Given the description of an element on the screen output the (x, y) to click on. 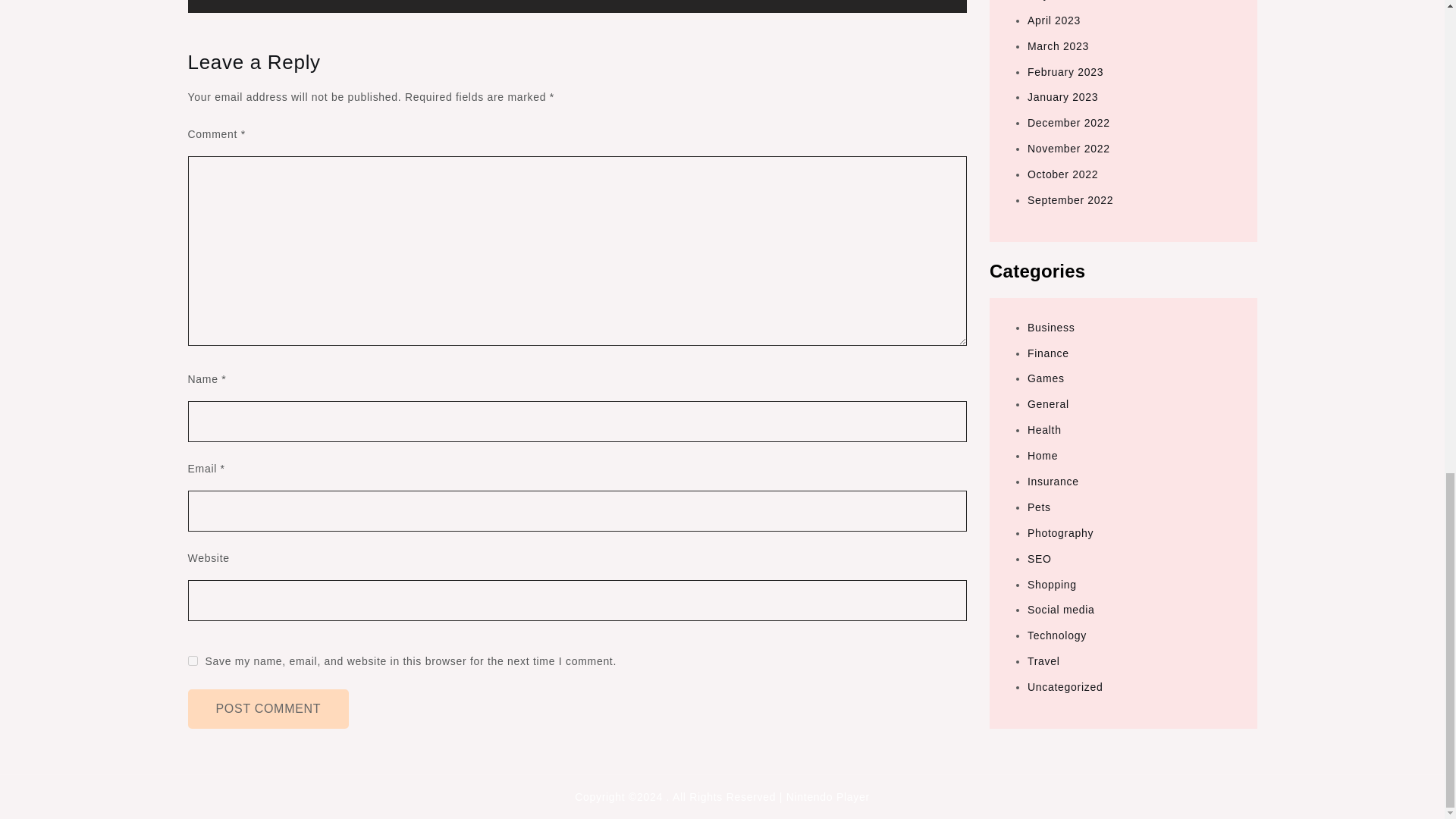
yes (192, 660)
Post Comment (268, 708)
Post Comment (268, 708)
